Given the description of an element on the screen output the (x, y) to click on. 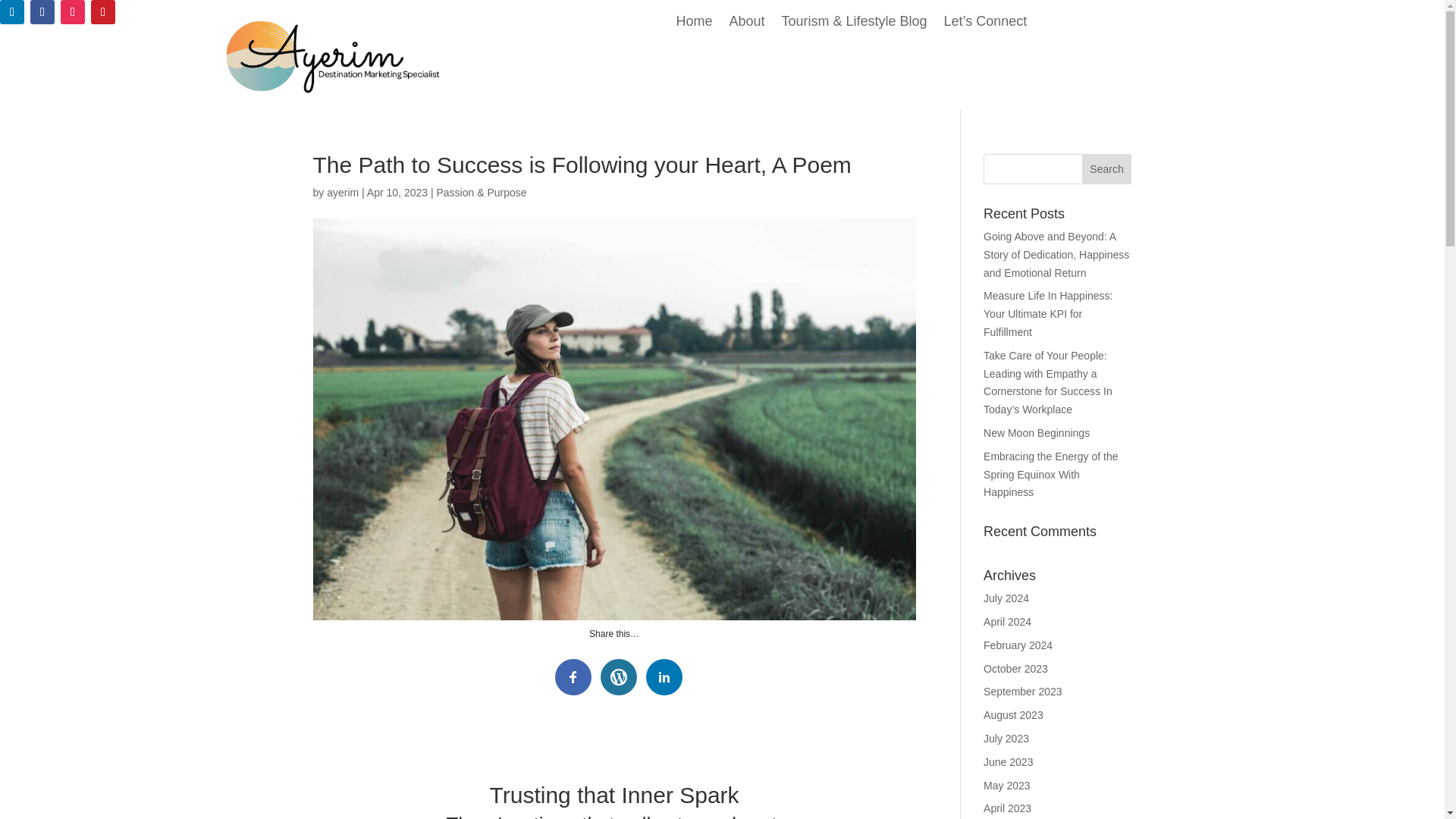
Follow on Facebook (42, 12)
Search (1106, 168)
September 2023 (1023, 691)
Follow on Pinterest (102, 12)
Posts by ayerim (342, 192)
July 2024 (1006, 598)
Embracing the Energy of the Spring Equinox With Happiness (1051, 474)
August 2023 (1013, 715)
ayerim (342, 192)
October 2023 (1016, 668)
July 2023 (1006, 738)
Follow on Instagram (72, 12)
Search (1106, 168)
Follow on LinkedIn (12, 12)
